Given the description of an element on the screen output the (x, y) to click on. 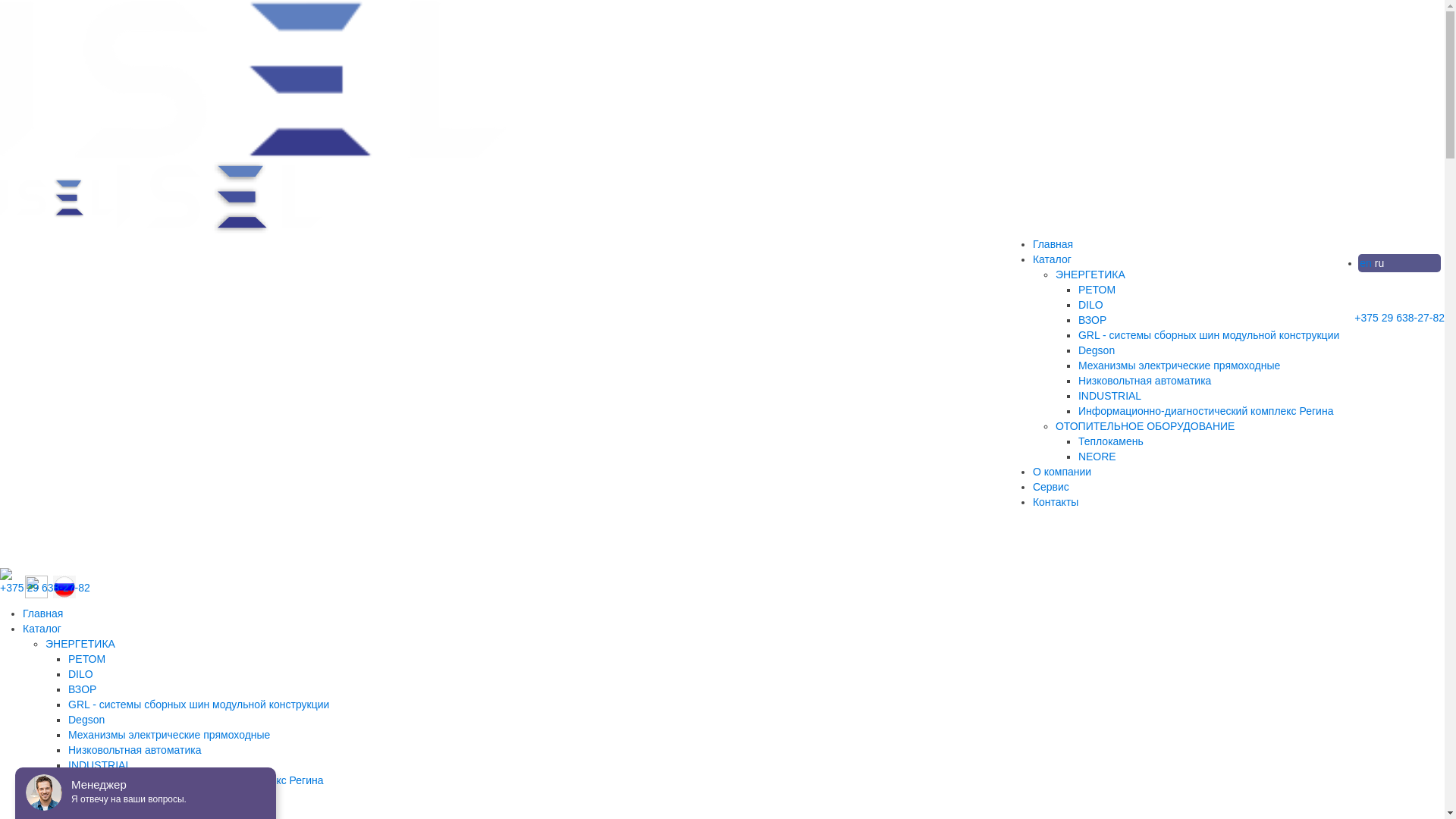
Techno Element type: hover (252, 78)
DILO Element type: text (80, 674)
NEORE Element type: text (1097, 456)
DILO Element type: text (1090, 304)
INDUSTRIAL Element type: text (99, 765)
ISEL Element type: hover (58, 197)
Degson Element type: text (86, 719)
ru Element type: text (1378, 263)
ISEL Element type: hover (218, 197)
Degson Element type: text (1096, 350)
en Element type: text (1365, 263)
+375 29 638-27-82 Element type: text (45, 587)
+375 29 638-27-82 Element type: text (1399, 317)
INDUSTRIAL Element type: text (1109, 395)
